Given the description of an element on the screen output the (x, y) to click on. 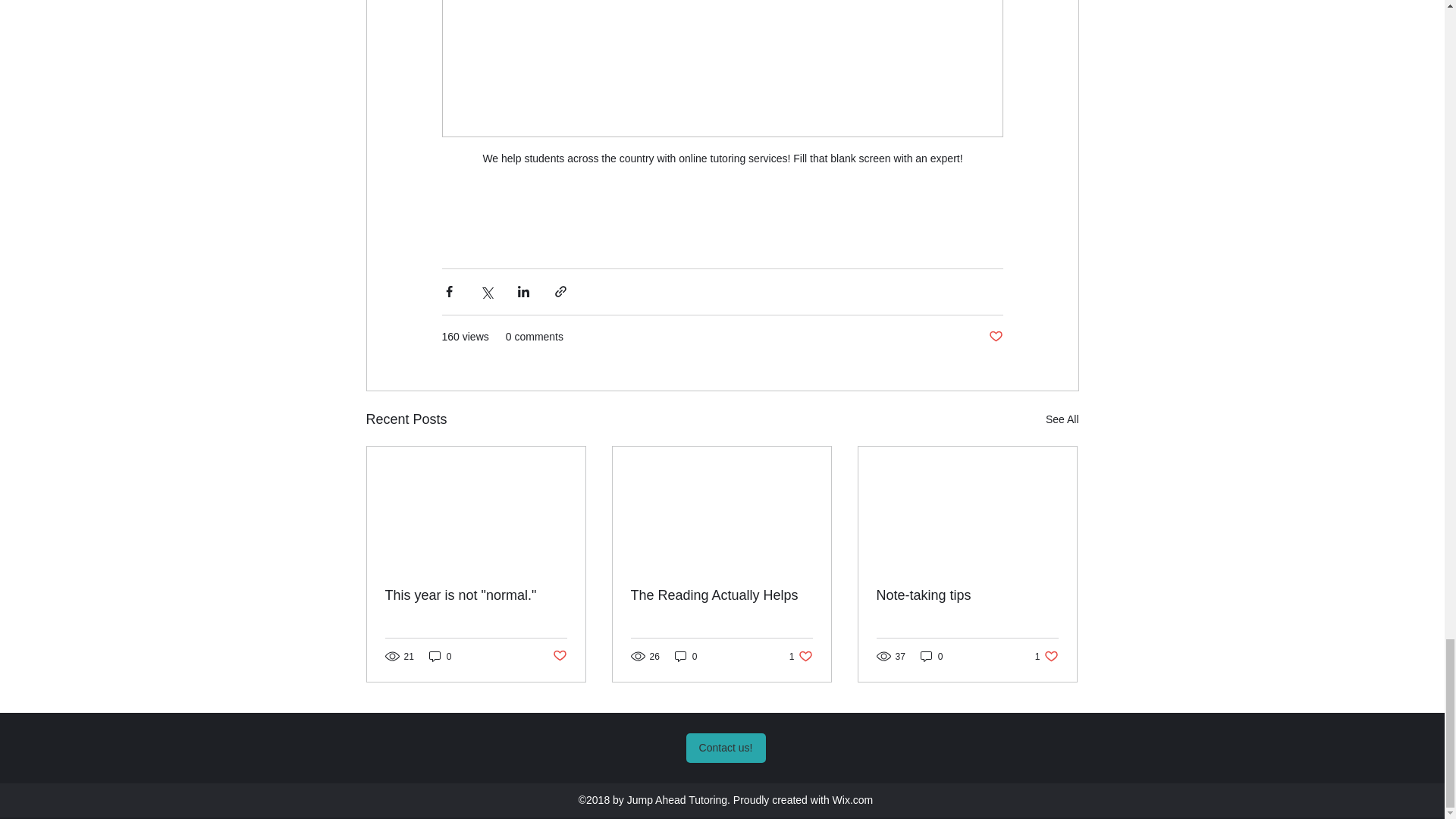
The Reading Actually Helps (721, 595)
See All (1046, 656)
Contact us! (800, 656)
0 (1061, 419)
Post not marked as liked (725, 747)
0 (685, 656)
0 (995, 336)
This year is not "normal." (440, 656)
Post not marked as liked (931, 656)
Note-taking tips (476, 595)
